Given the description of an element on the screen output the (x, y) to click on. 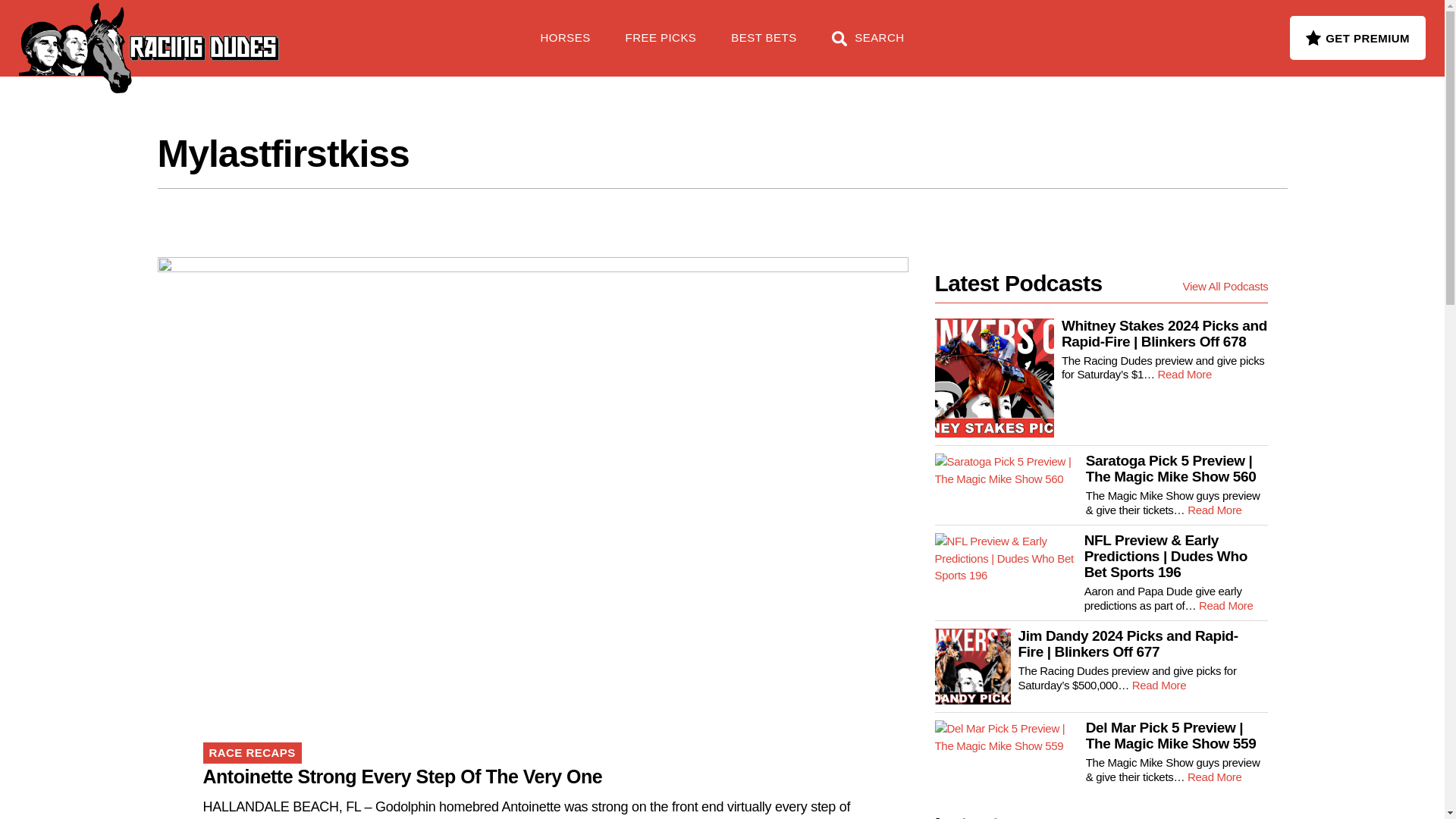
FREE PICKS (245, 29)
BEST BETS (763, 45)
HORSES (565, 45)
GET PREMIUM (1357, 37)
 SEARCH (867, 45)
FREE PICKS (661, 45)
PODCASTS (354, 29)
